Given the description of an element on the screen output the (x, y) to click on. 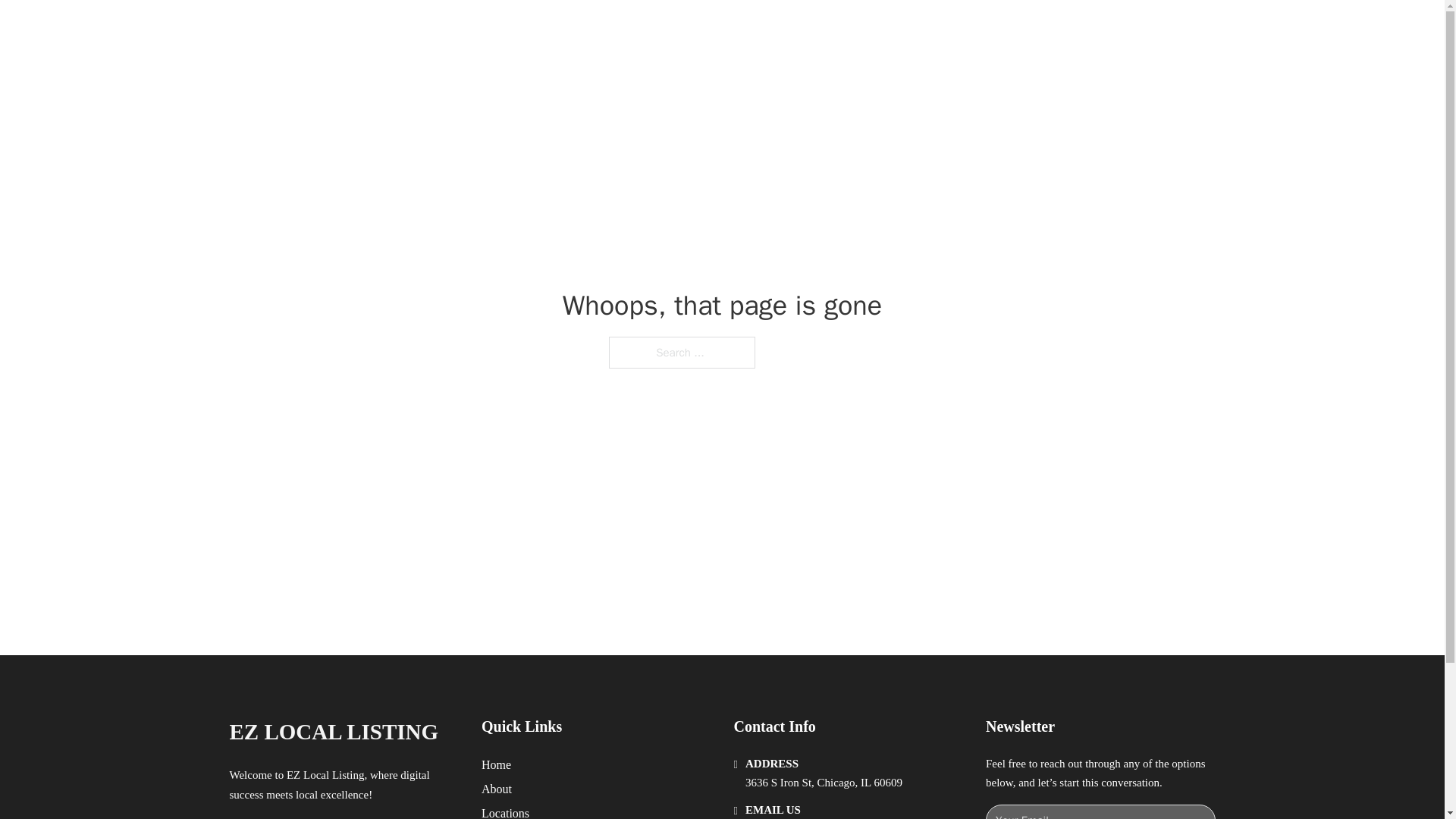
About (496, 788)
Locations (505, 811)
EZ LOCAL LISTING (333, 732)
Home (496, 764)
